Given the description of an element on the screen output the (x, y) to click on. 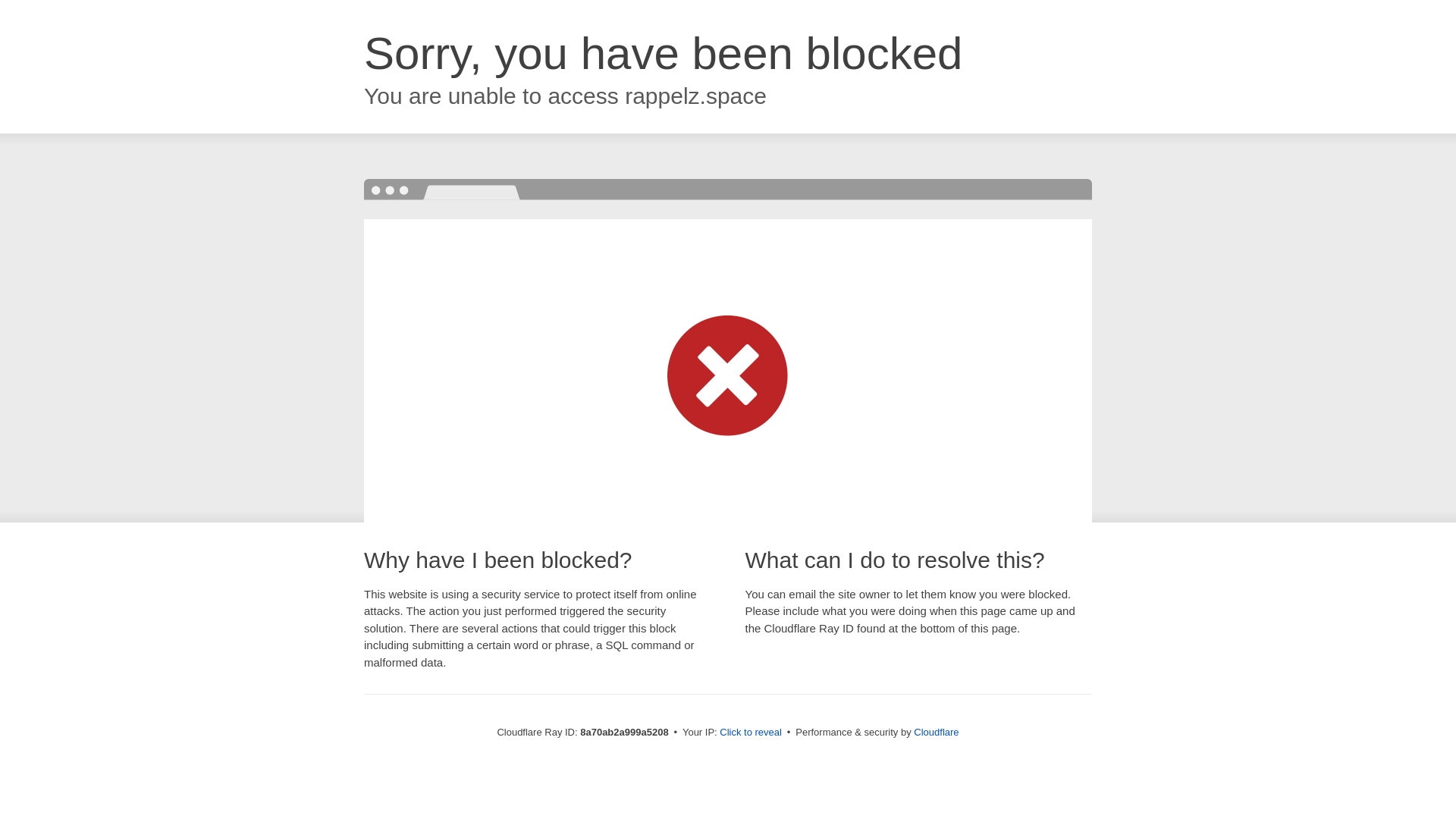
Cloudflare (936, 731)
Click to reveal (750, 732)
